Given the description of an element on the screen output the (x, y) to click on. 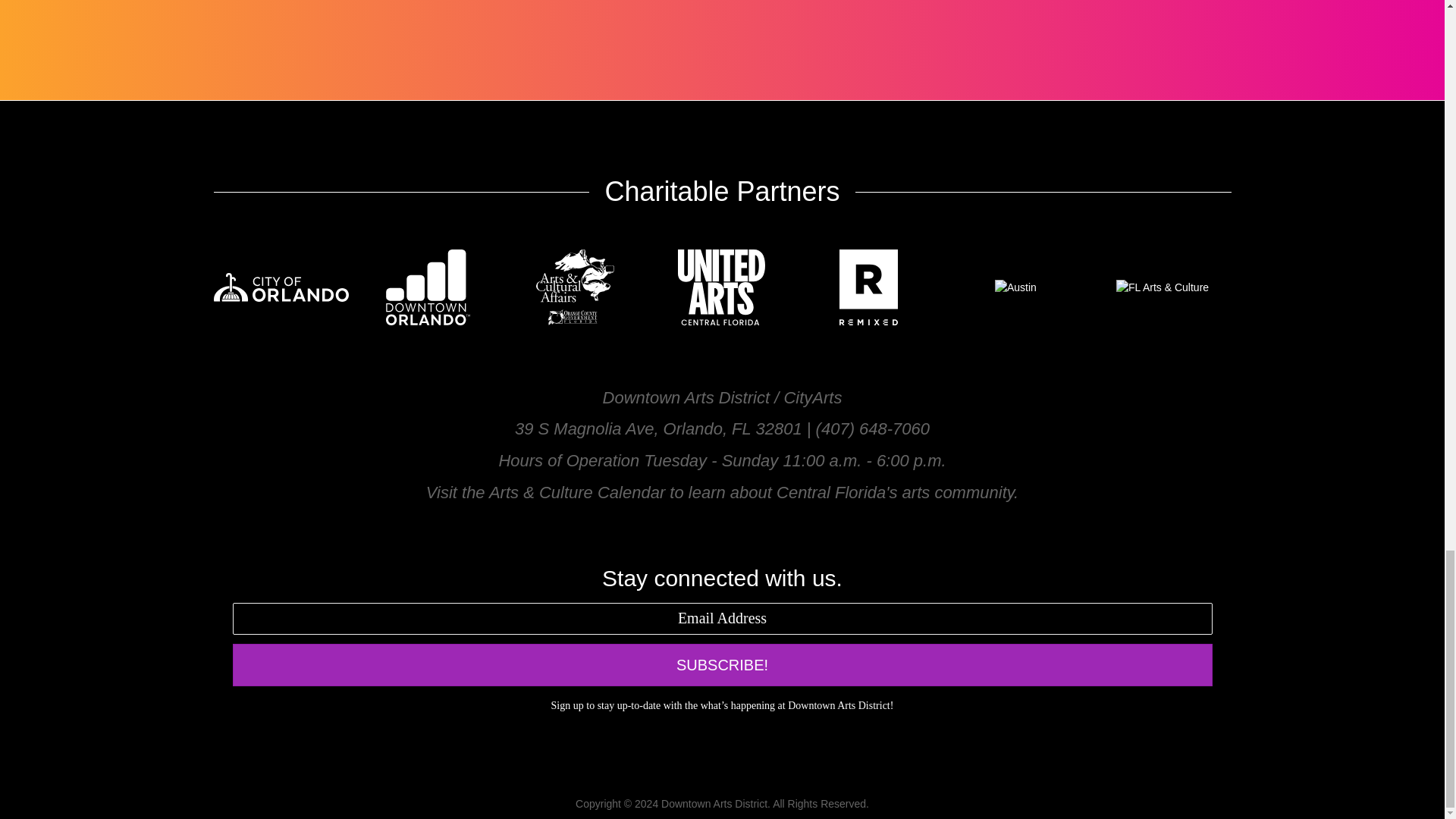
Side Gallery (359, 4)
Redefine Gallery (595, 4)
